Given the description of an element on the screen output the (x, y) to click on. 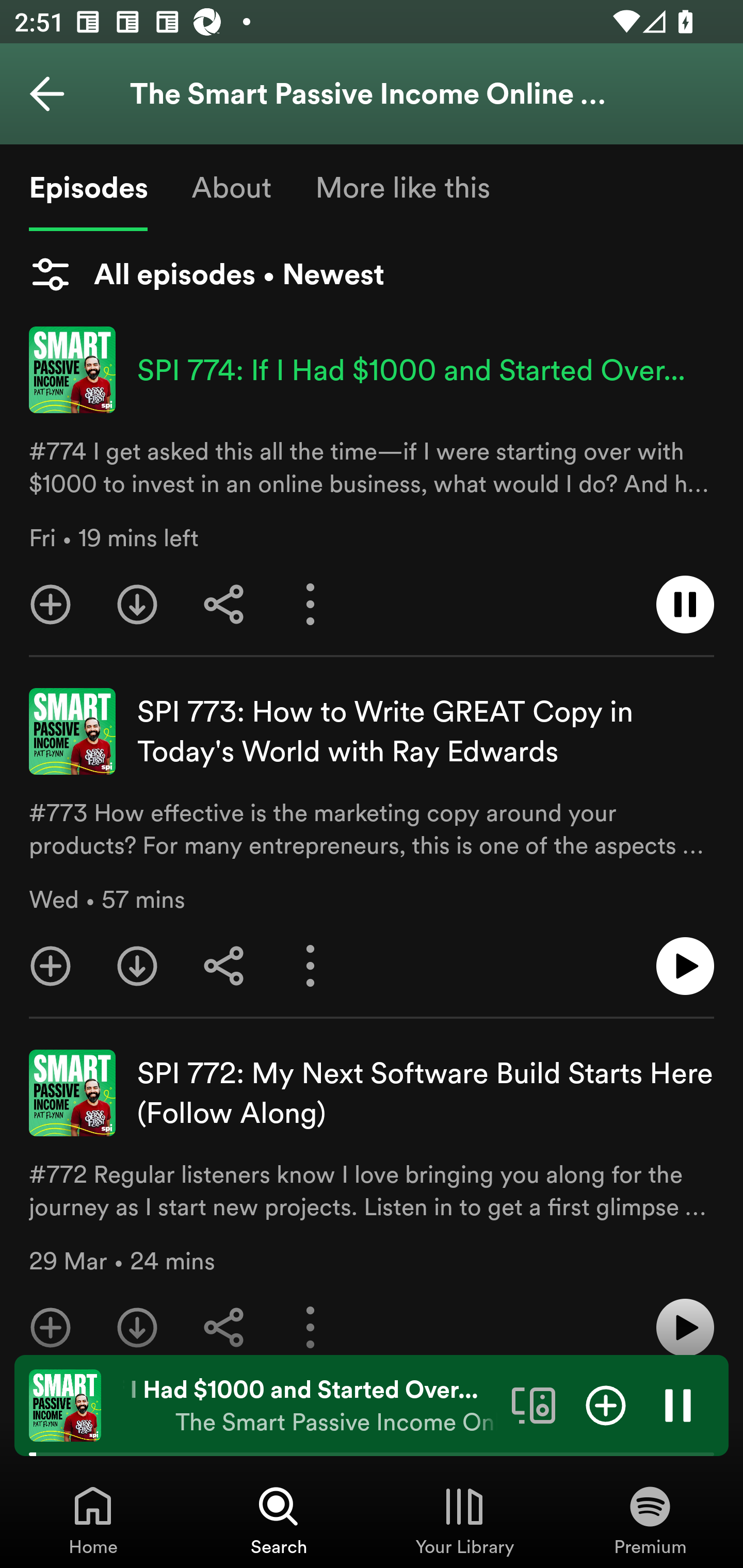
Back (46, 93)
About (231, 187)
More like this (402, 187)
All episodes • Newest (206, 274)
Share (223, 604)
Share (223, 965)
Share (223, 1319)
The cover art of the currently playing track (64, 1404)
Connect to a device. Opens the devices menu (533, 1404)
Add item (605, 1404)
Pause (677, 1404)
Home, Tab 1 of 4 Home Home (92, 1519)
Search, Tab 2 of 4 Search Search (278, 1519)
Your Library, Tab 3 of 4 Your Library Your Library (464, 1519)
Premium, Tab 4 of 4 Premium Premium (650, 1519)
